Given the description of an element on the screen output the (x, y) to click on. 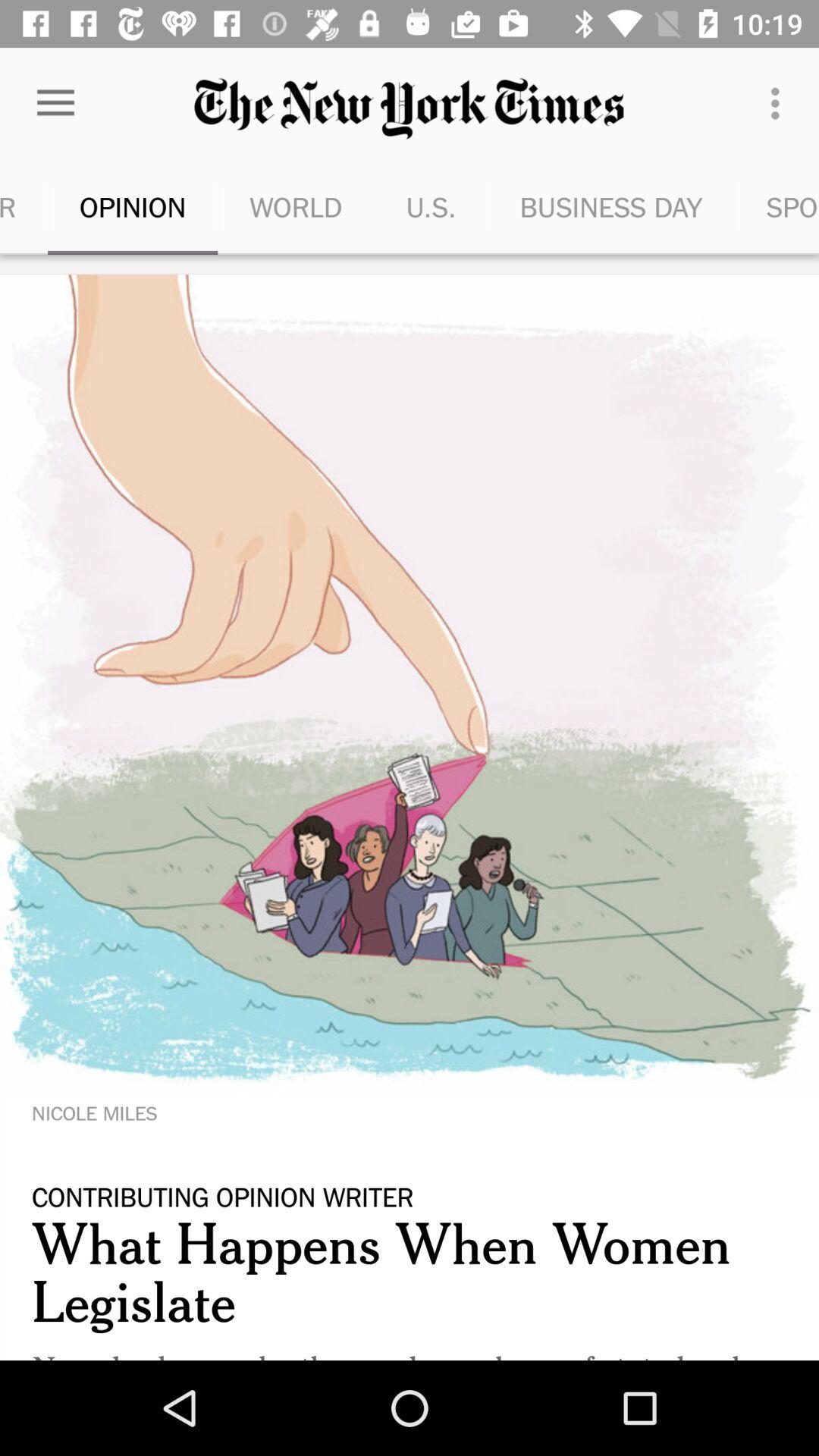
press item to the left of business day item (430, 206)
